Given the description of an element on the screen output the (x, y) to click on. 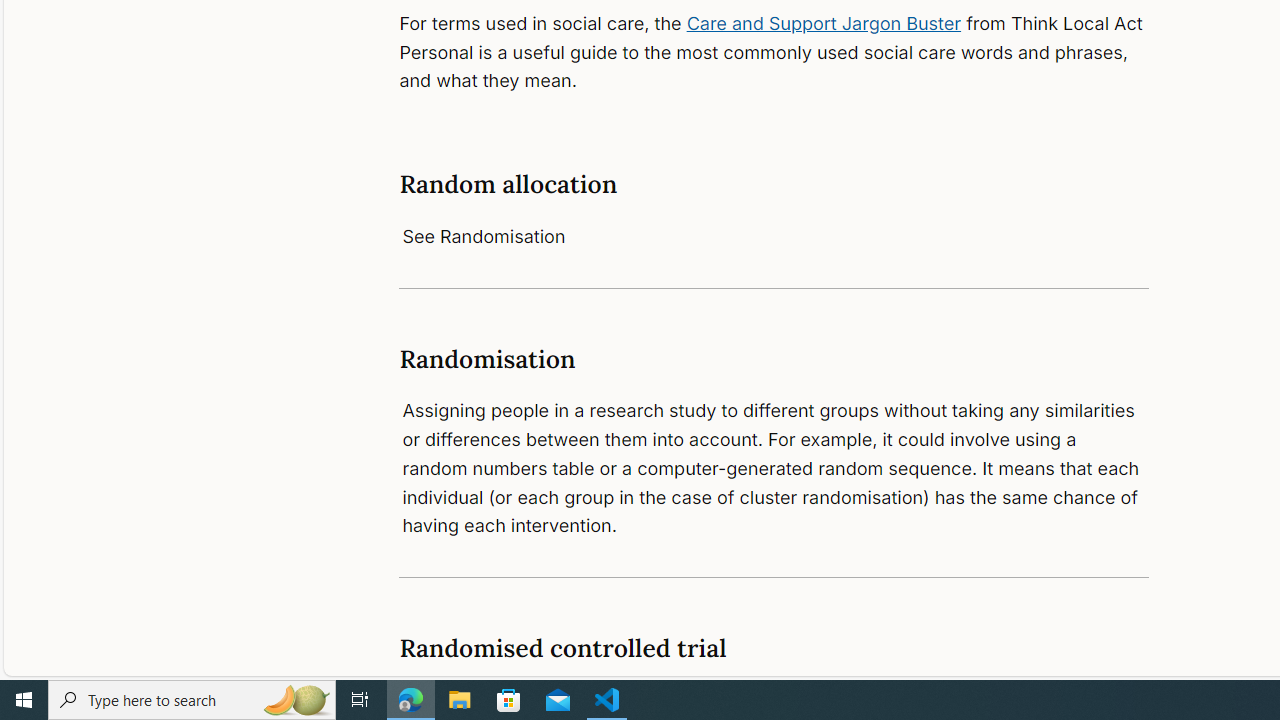
Care and Support Jargon Buster (824, 22)
Random allocationSee Randomisation (774, 209)
